Given the description of an element on the screen output the (x, y) to click on. 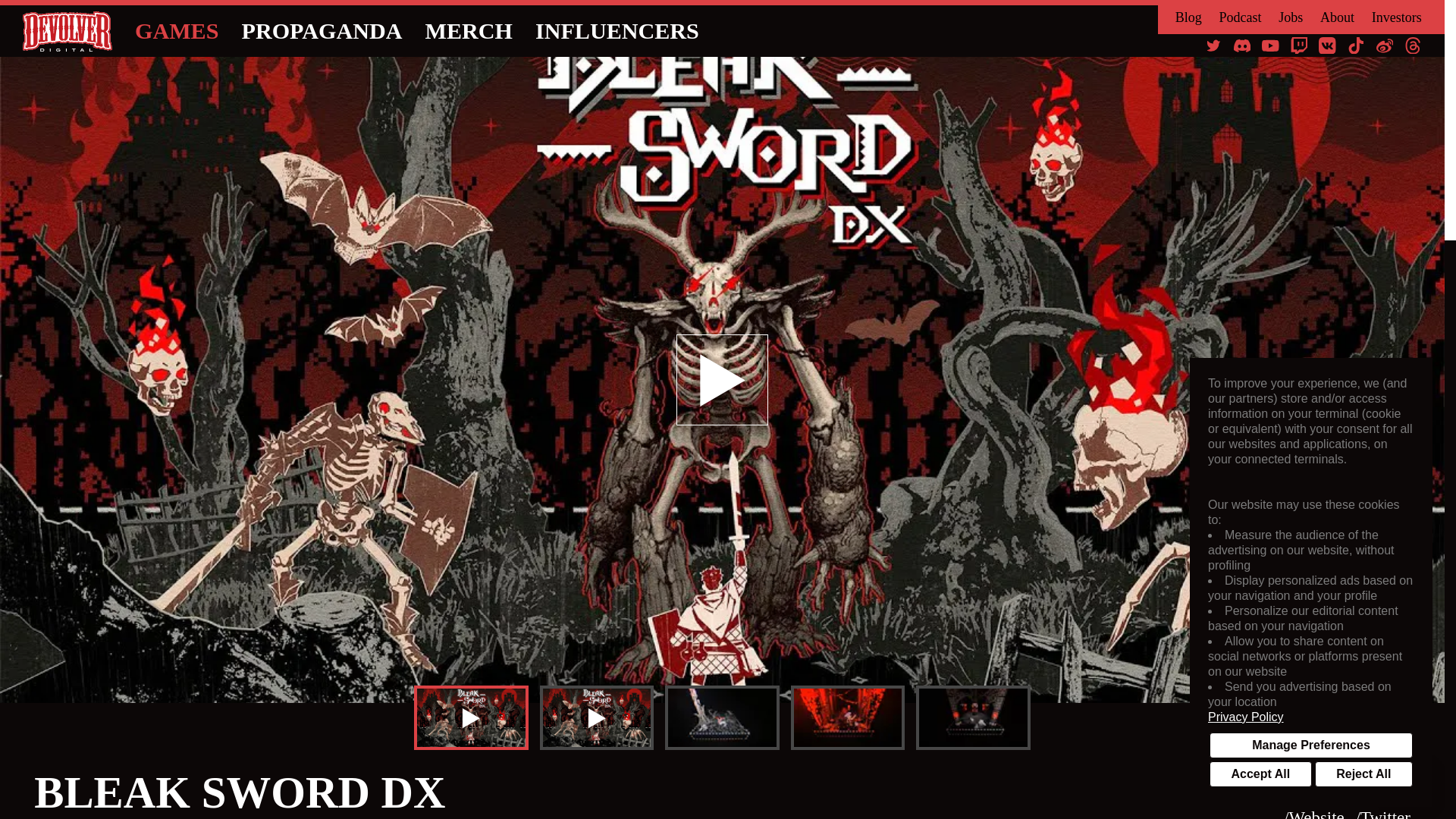
Privacy Policy (1310, 717)
MERCH (468, 31)
Manage Preferences (1310, 745)
Accept All (1260, 774)
PROPAGANDA (322, 31)
Investors (1396, 17)
INFLUENCERS (616, 31)
Jobs (1290, 17)
Reject All (1363, 774)
Podcast (1239, 17)
Blog (1188, 17)
About (1337, 17)
GAMES (176, 31)
